Given the description of an element on the screen output the (x, y) to click on. 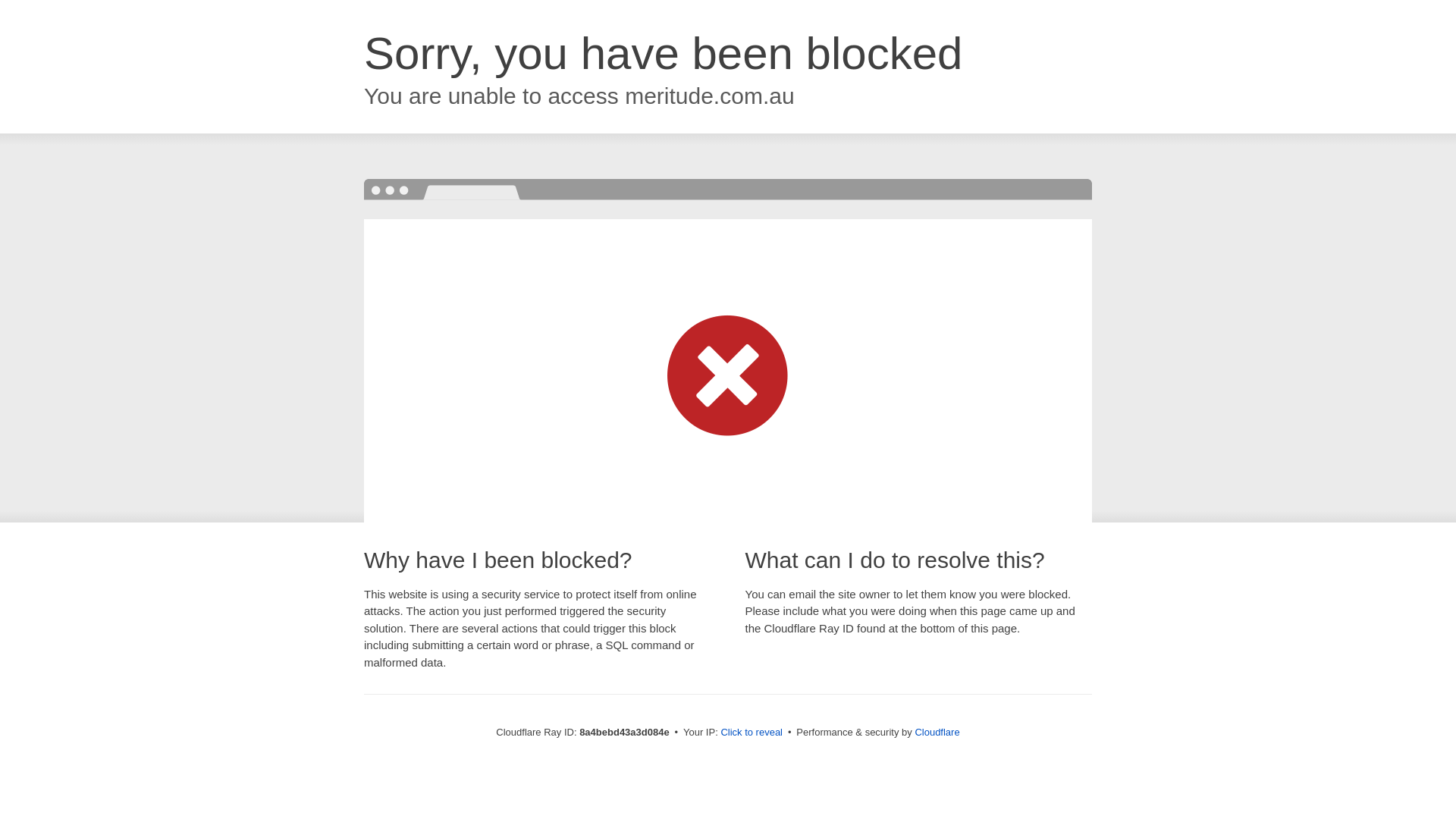
Cloudflare (936, 731)
Click to reveal (751, 732)
